Given the description of an element on the screen output the (x, y) to click on. 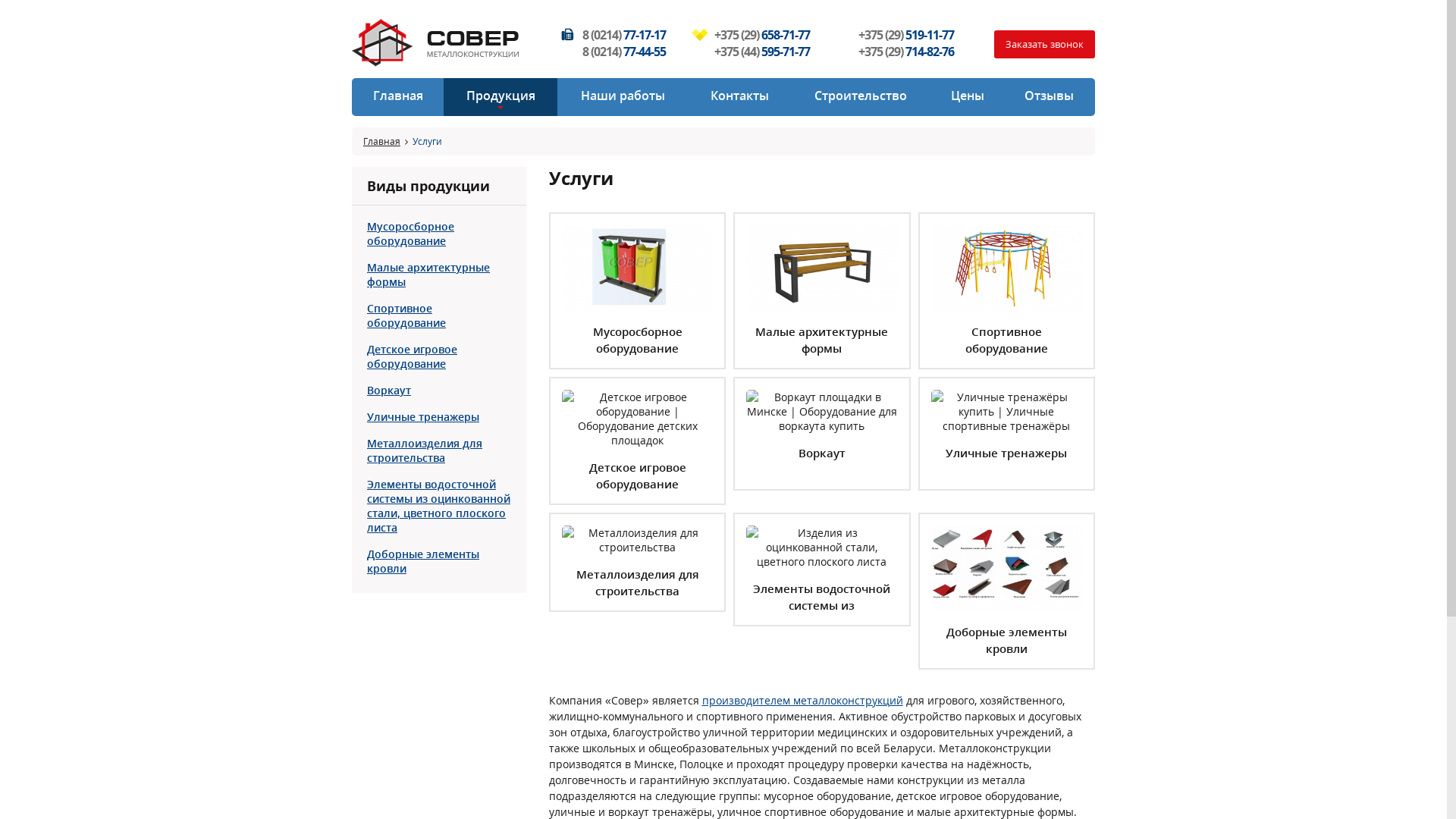
+375 (29) 519-11-77 Element type: text (905, 34)
8 (0214) 77-17-17 Element type: text (623, 34)
+375 (44) 595-71-77 Element type: text (761, 51)
+375 (29) 714-82-76 Element type: text (905, 51)
+375 (29) 658-71-77 Element type: text (761, 34)
8 (0214) 77-44-55 Element type: text (623, 51)
